Given the description of an element on the screen output the (x, y) to click on. 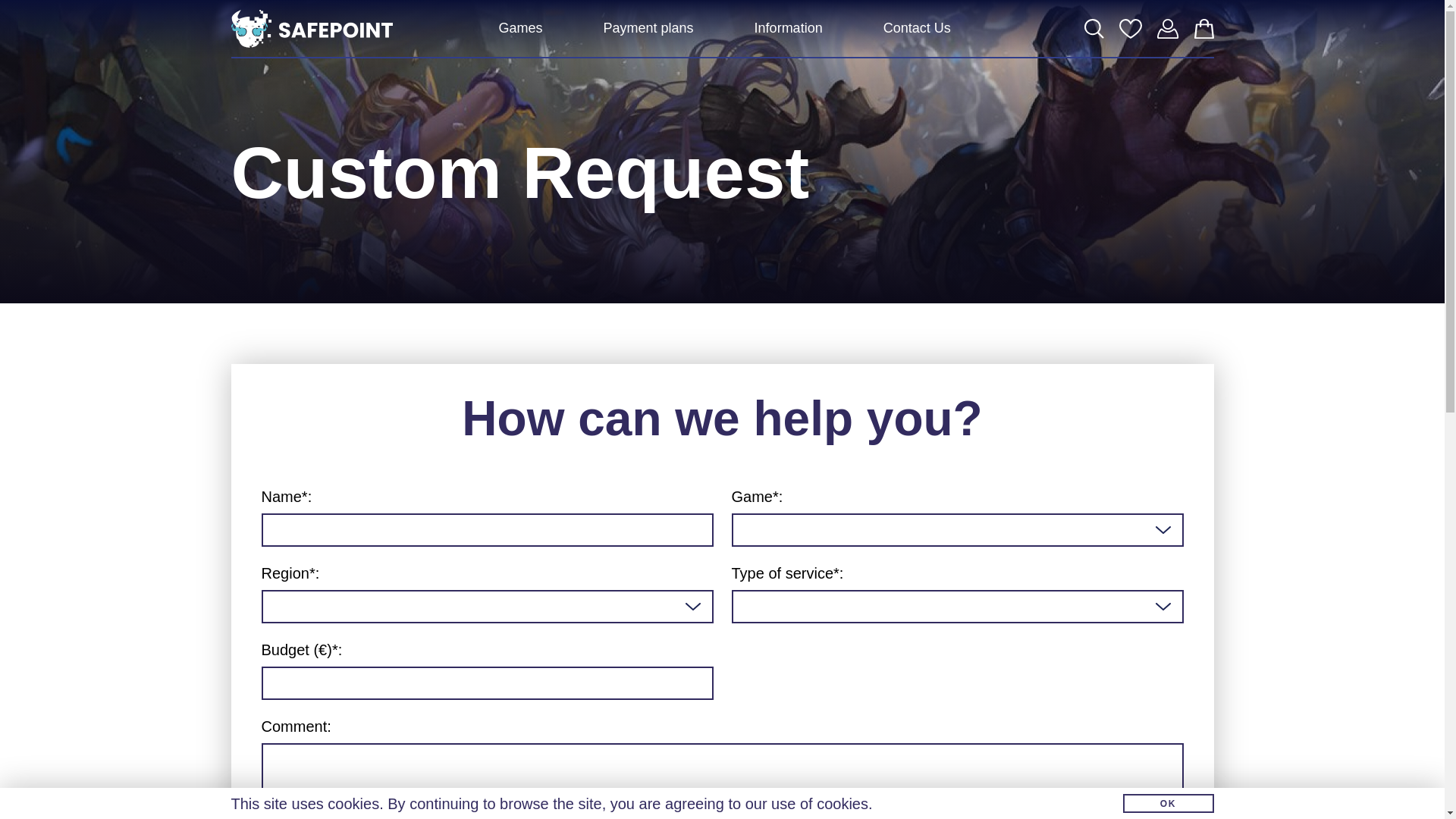
Contact Us Element type: text (916, 27)
OK Element type: text (1167, 802)
Payment plans Element type: text (648, 27)
